Given the description of an element on the screen output the (x, y) to click on. 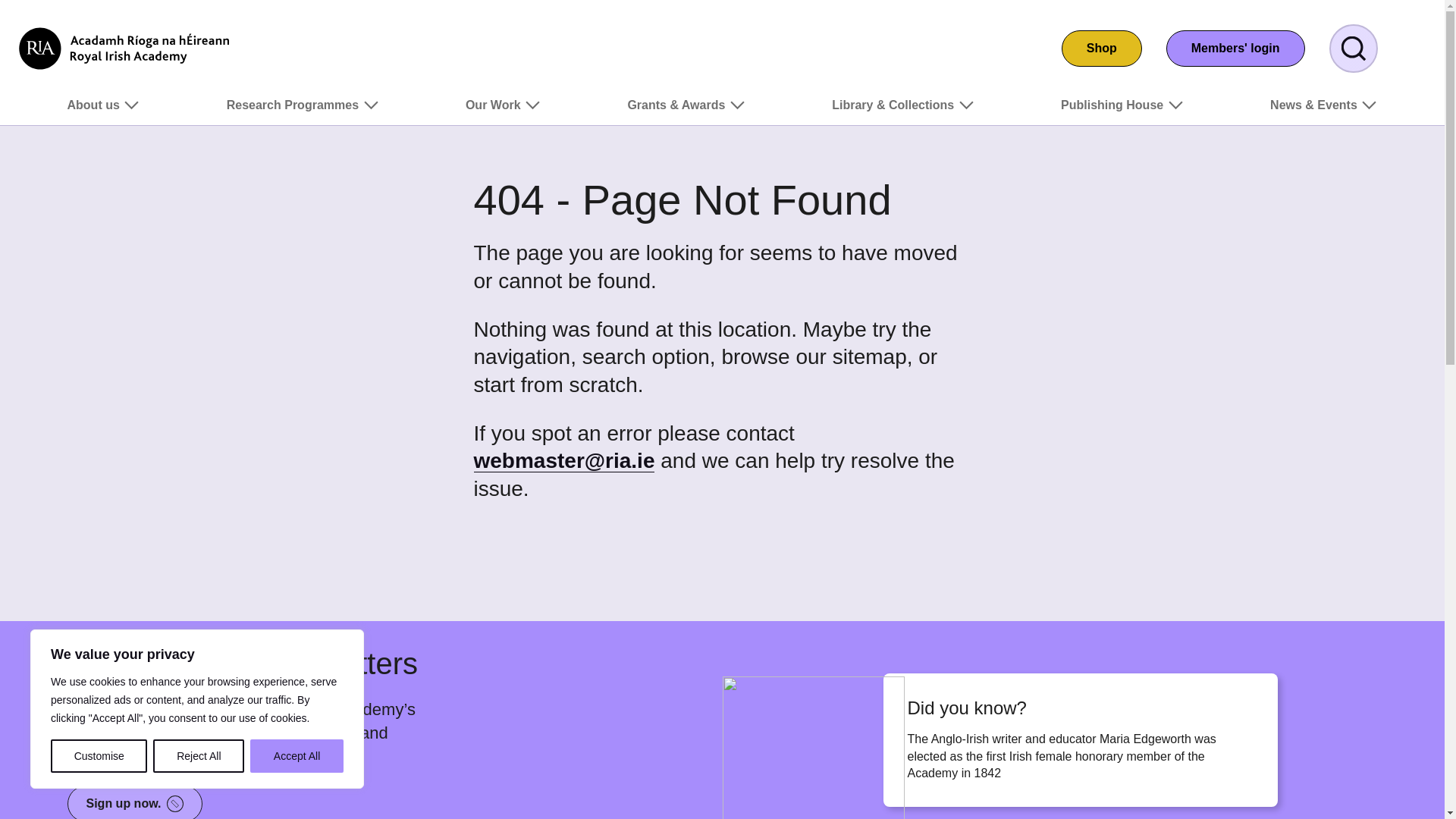
Customise (98, 756)
Members' login (1235, 48)
Royal Irish Academy (124, 48)
Search (1352, 48)
Reject All (198, 756)
Shop (1101, 48)
About us (102, 111)
Accept All (296, 756)
